Given the description of an element on the screen output the (x, y) to click on. 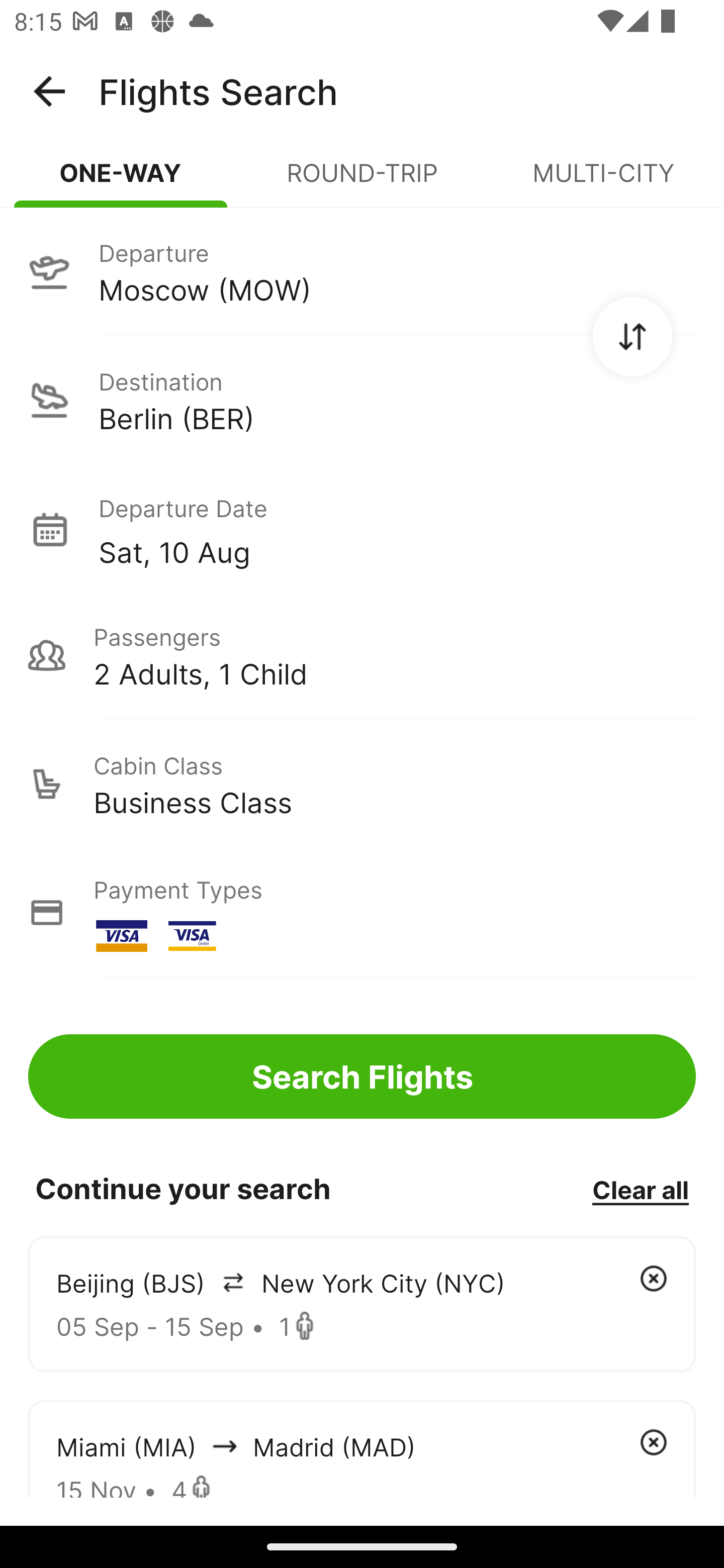
ONE-WAY (120, 180)
ROUND-TRIP (361, 180)
MULTI-CITY (603, 180)
Departure Moscow (MOW) (362, 270)
Destination Berlin (BER) (362, 400)
Departure Date Sat, 10 Aug (396, 528)
Passengers 2 Adults, 1 Child (362, 655)
Cabin Class Business Class (362, 783)
Payment Types (362, 912)
Search Flights (361, 1075)
Clear all (640, 1189)
Miami (MIA)  arrowIcon  Madrid (MAD) 15 Nov •  4  (361, 1448)
